Given the description of an element on the screen output the (x, y) to click on. 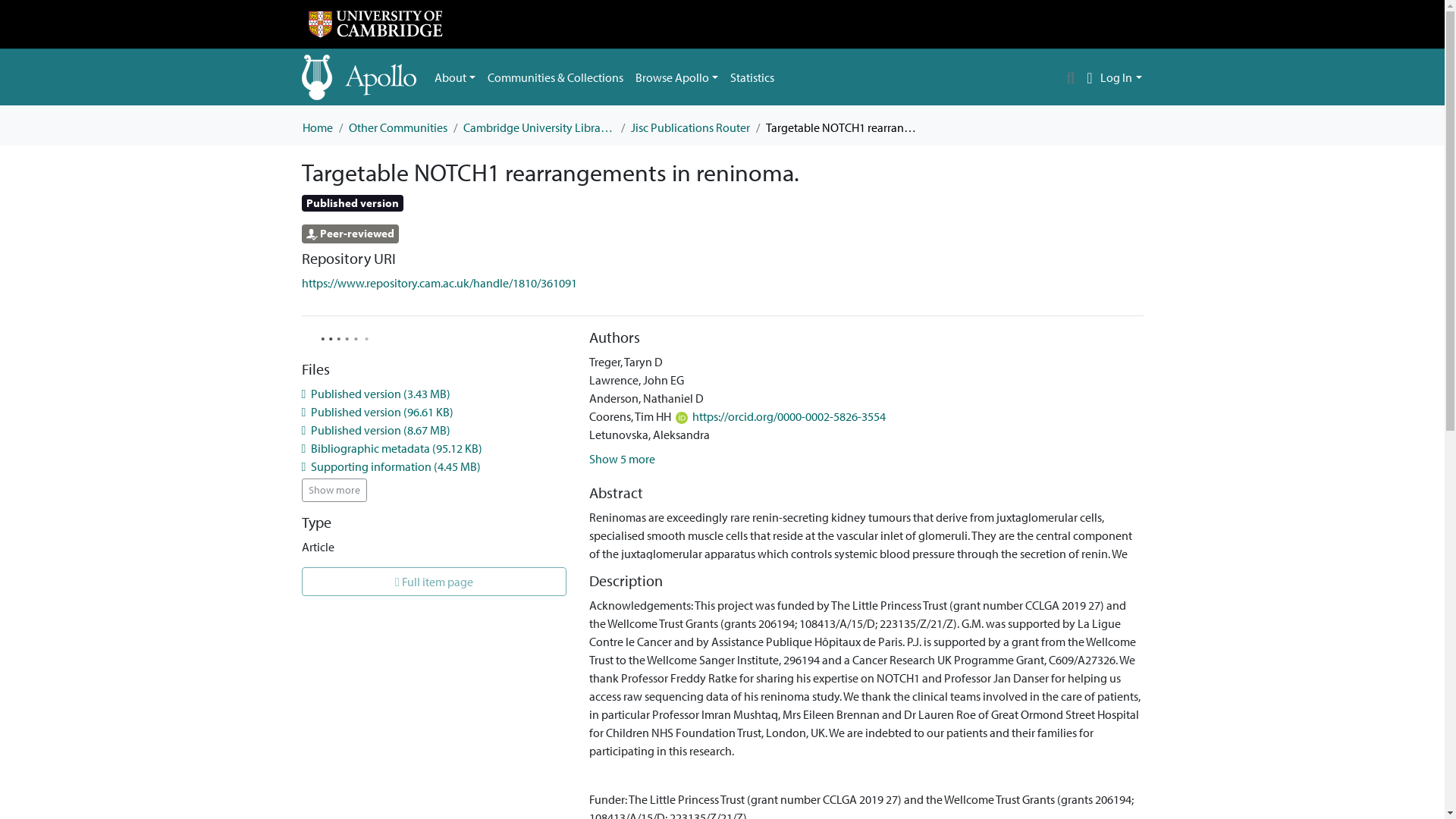
Home (316, 126)
Jisc Publications Router (689, 126)
Full item page (434, 581)
Search (1070, 76)
Cambridge University Libraries (538, 126)
Language switch (1089, 76)
Statistics (751, 77)
About (454, 77)
Show 5 more (622, 458)
Statistics (751, 77)
